Given the description of an element on the screen output the (x, y) to click on. 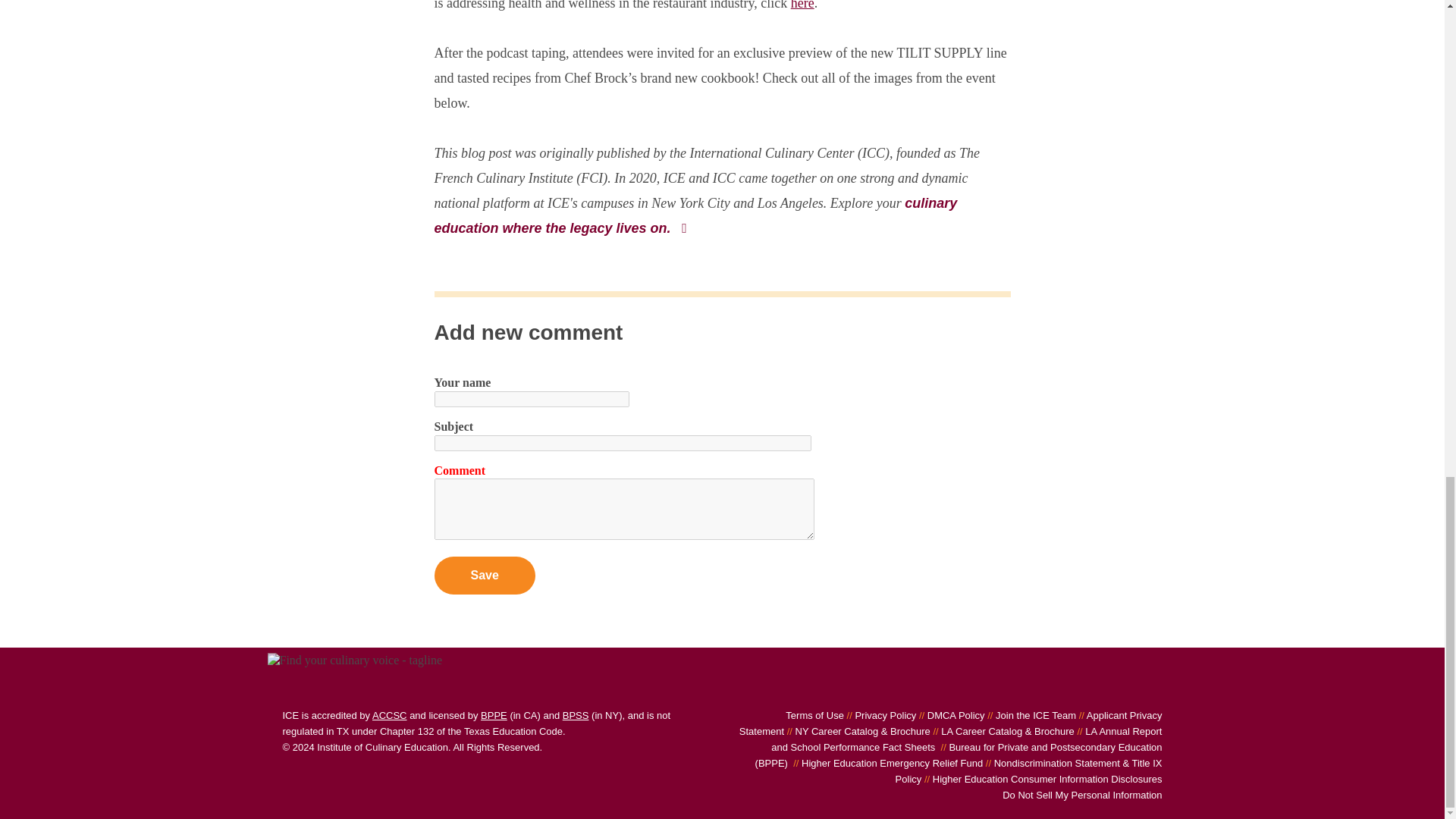
BPSS (575, 715)
here (801, 5)
Terms of Use (815, 715)
Save (483, 575)
Higher Education Emergency Relief Fund (887, 763)
Save (483, 575)
Bureau for Private Postsecondary Education (493, 715)
culinary education where the legacy lives on. (694, 215)
Join the ICE Team (1030, 715)
LA Annual Report and School Performance Fact Sheets (966, 738)
